Given the description of an element on the screen output the (x, y) to click on. 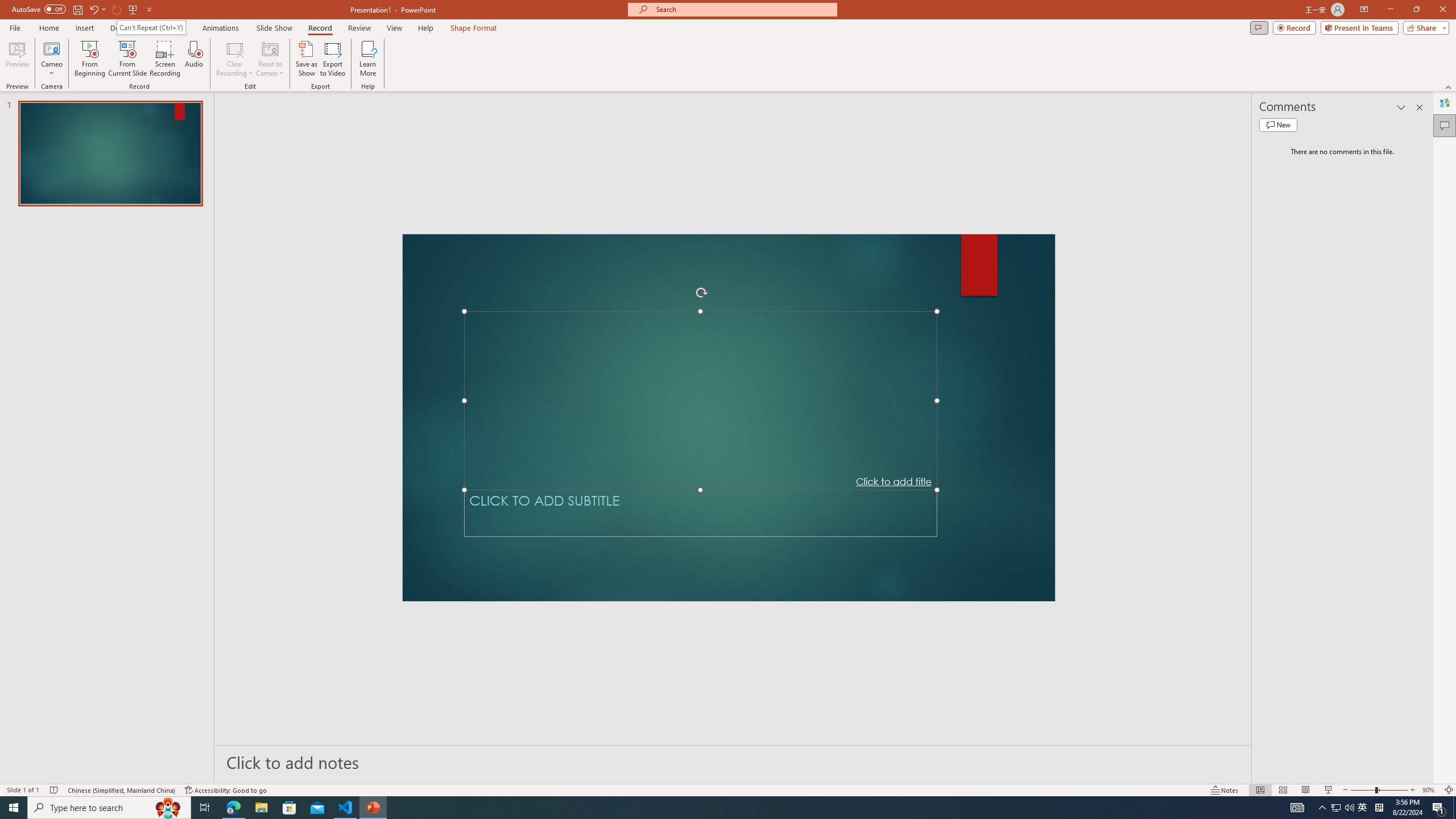
New comment (1278, 124)
Zoom 90% (1430, 790)
From Beginning... (89, 58)
Learn More (368, 58)
Accessibility Checker Accessibility: Good to go (226, 790)
